Given the description of an element on the screen output the (x, y) to click on. 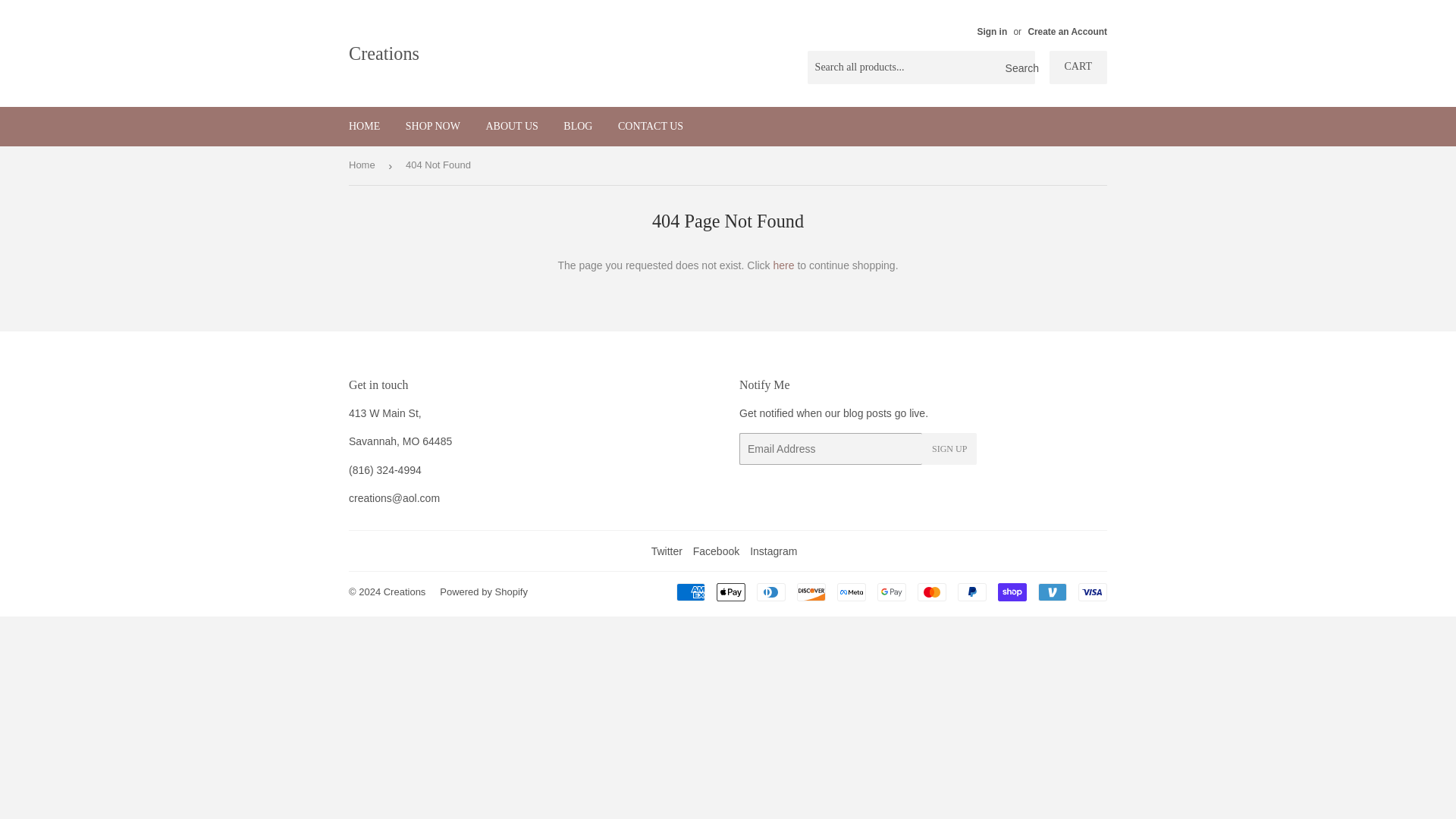
Diners Club (771, 592)
Mastercard (931, 592)
CONTACT US (650, 126)
Google Pay (891, 592)
Venmo (1052, 592)
ABOUT US (511, 126)
Creations on Twitter (666, 551)
Creations on Facebook (716, 551)
Creations on Instagram (772, 551)
BLOG (577, 126)
